Given the description of an element on the screen output the (x, y) to click on. 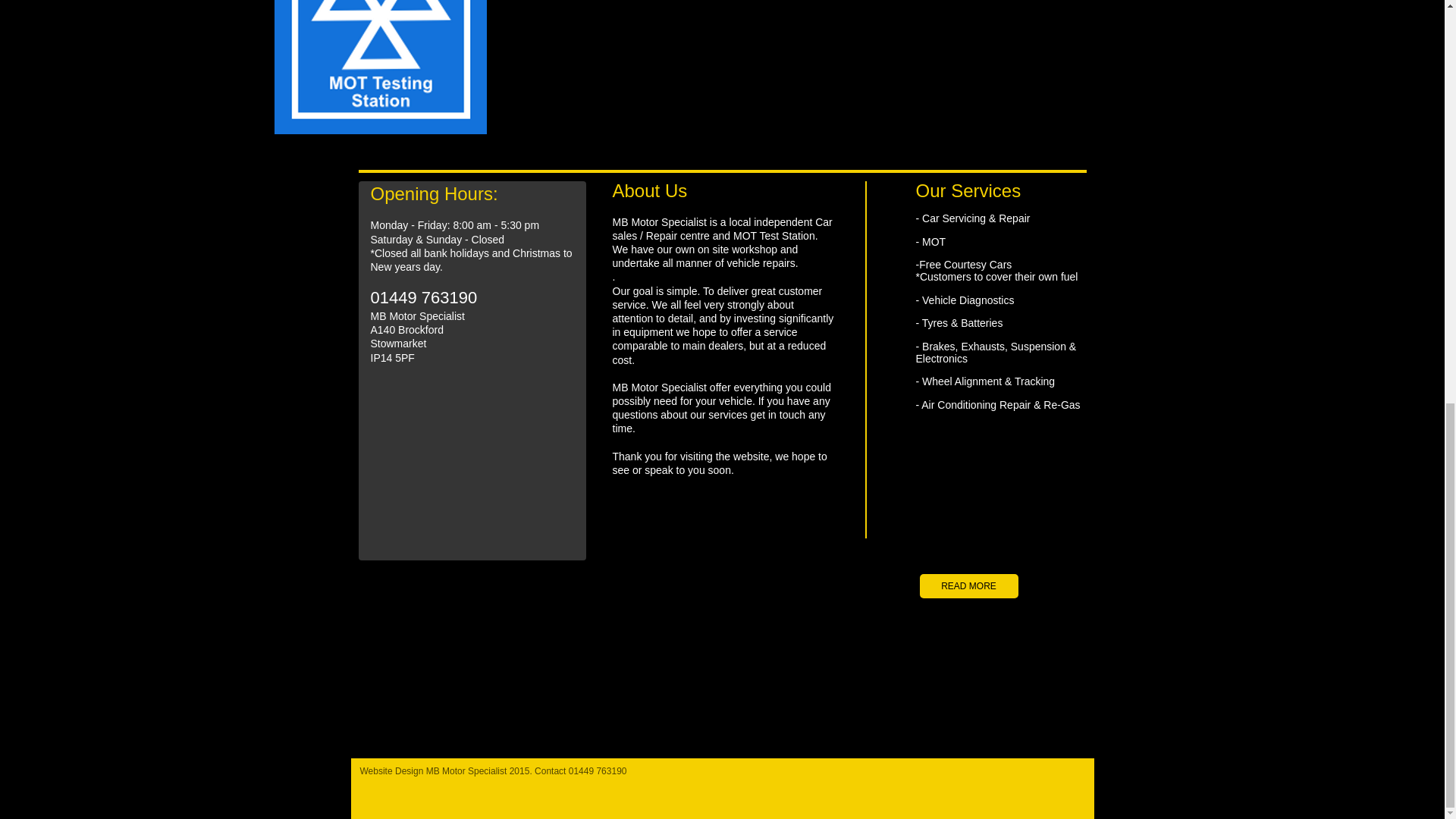
READ MORE (967, 586)
download.png (380, 67)
